Given the description of an element on the screen output the (x, y) to click on. 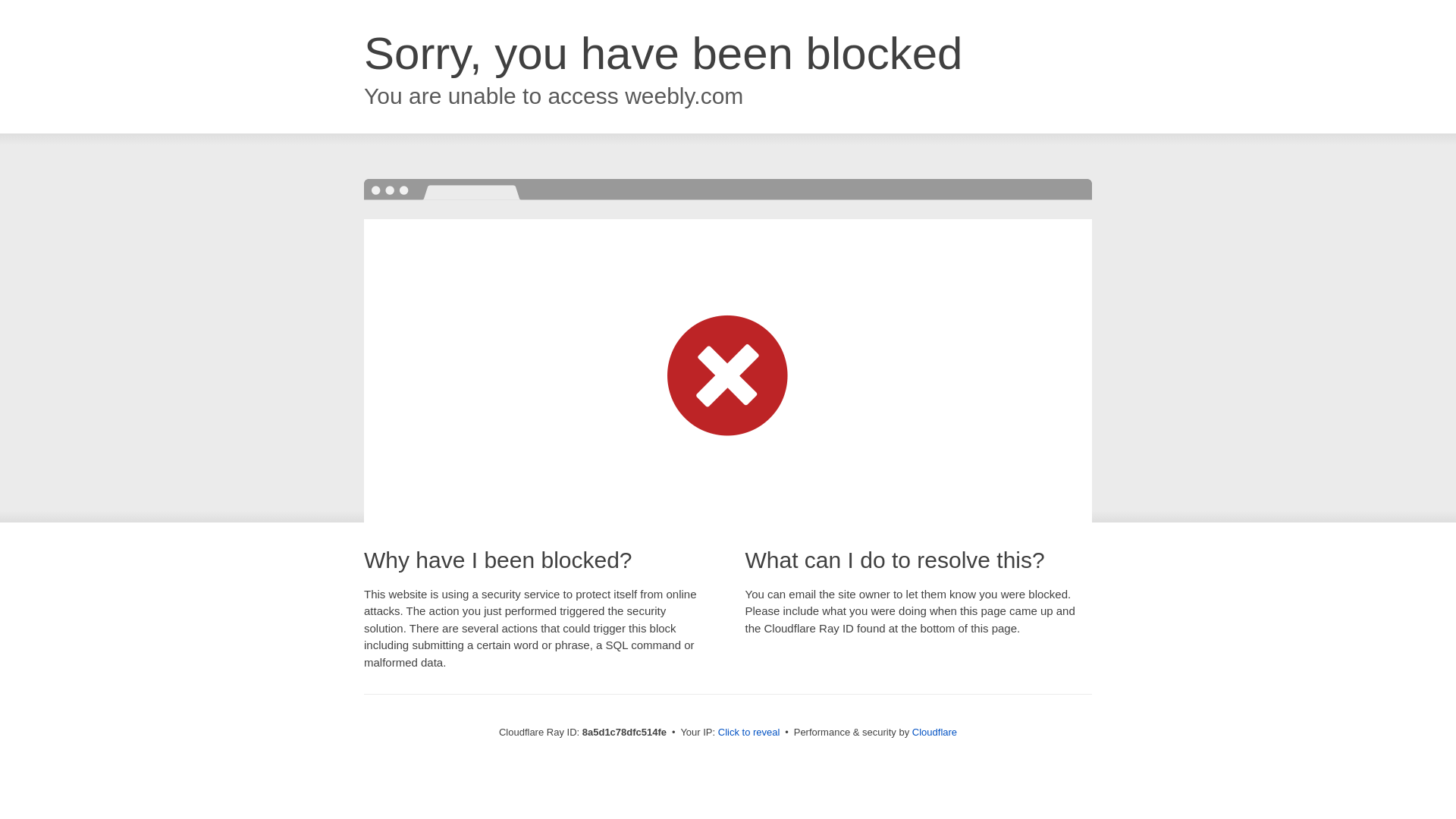
Cloudflare (934, 731)
Click to reveal (748, 732)
